Given the description of an element on the screen output the (x, y) to click on. 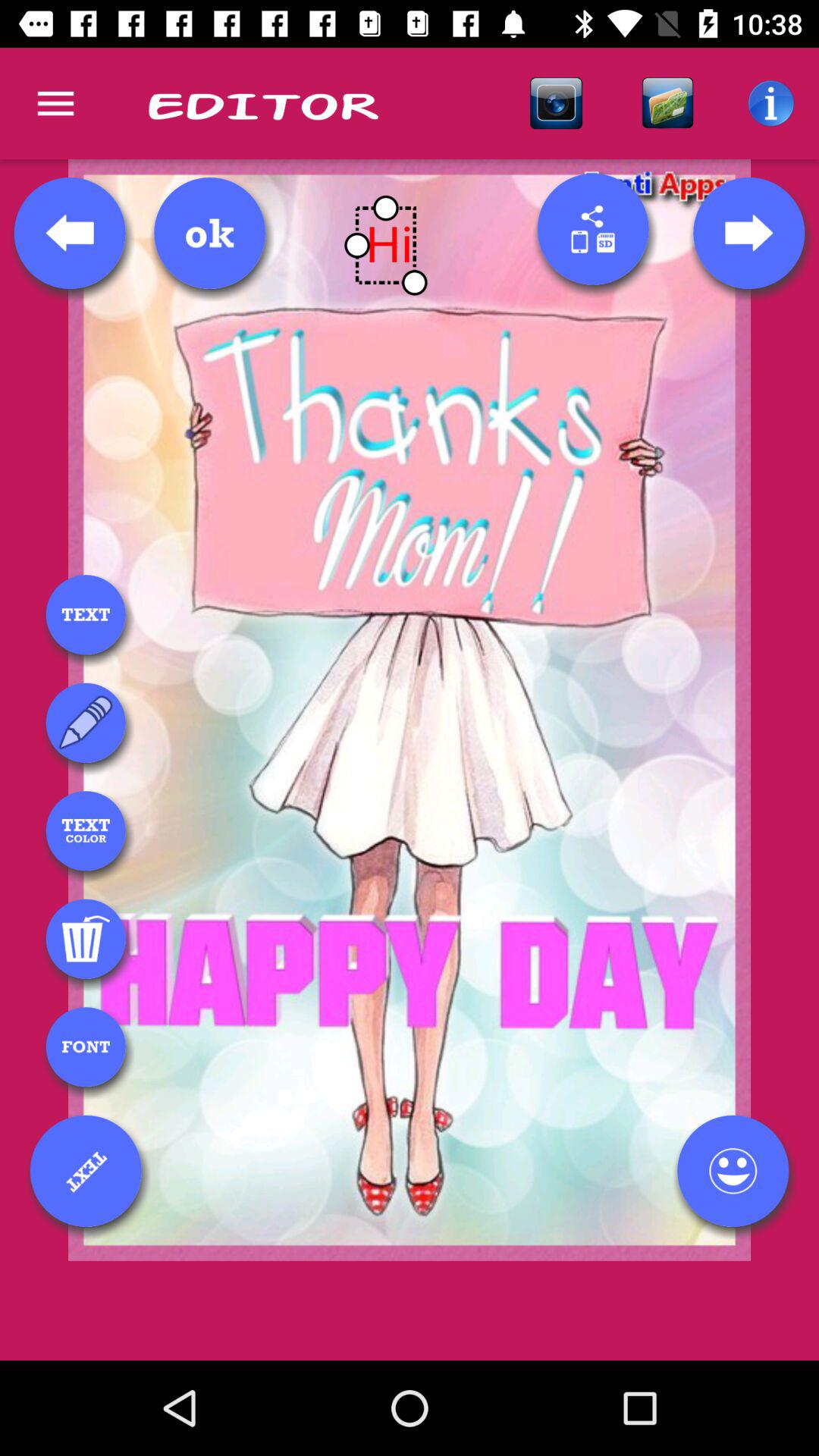
tag as favorite (733, 1171)
